Given the description of an element on the screen output the (x, y) to click on. 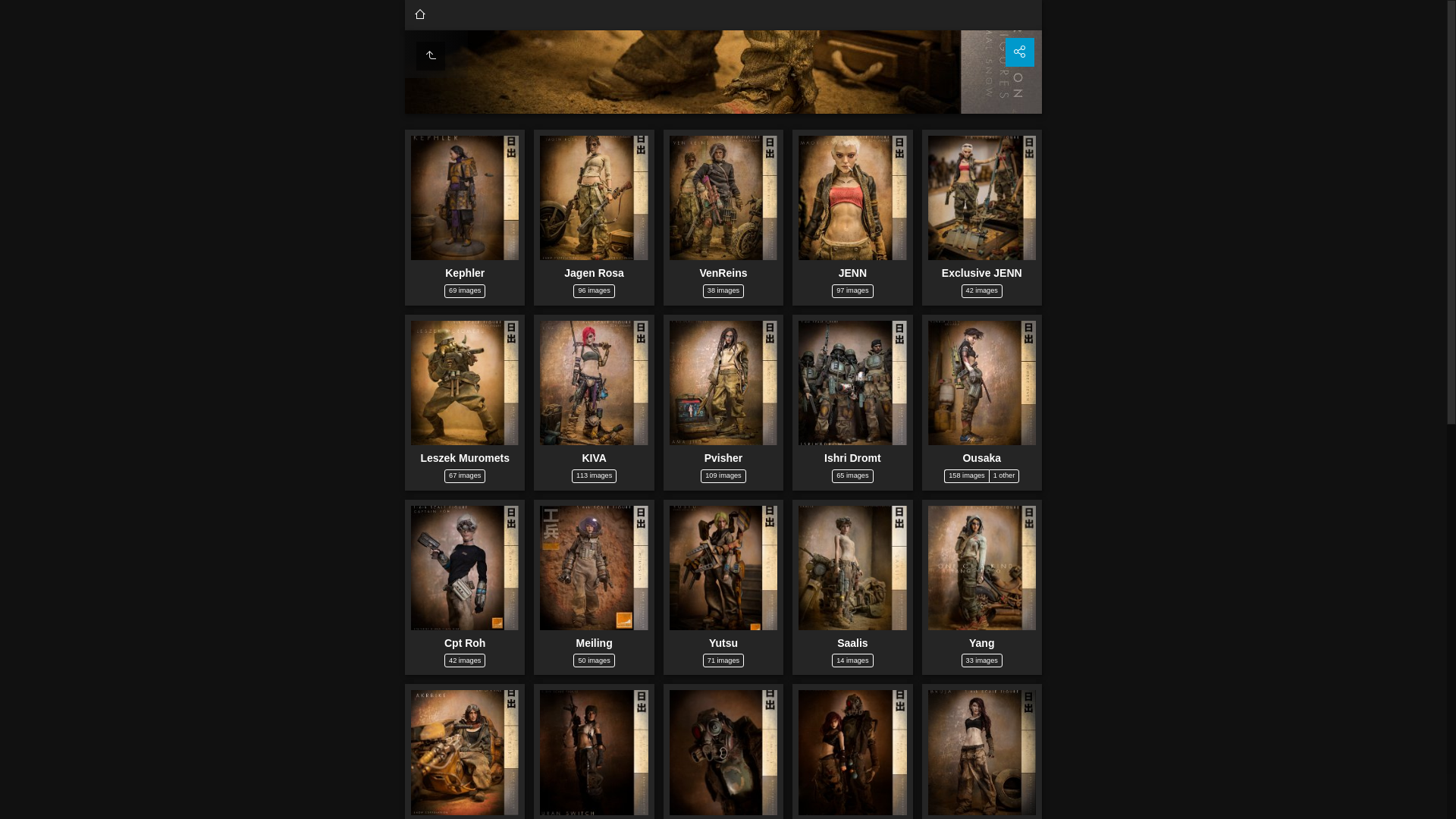
Share album Element type: hover (1019, 51)
Up one level Element type: hover (430, 55)
Main album page Element type: hover (419, 15)
